Given the description of an element on the screen output the (x, y) to click on. 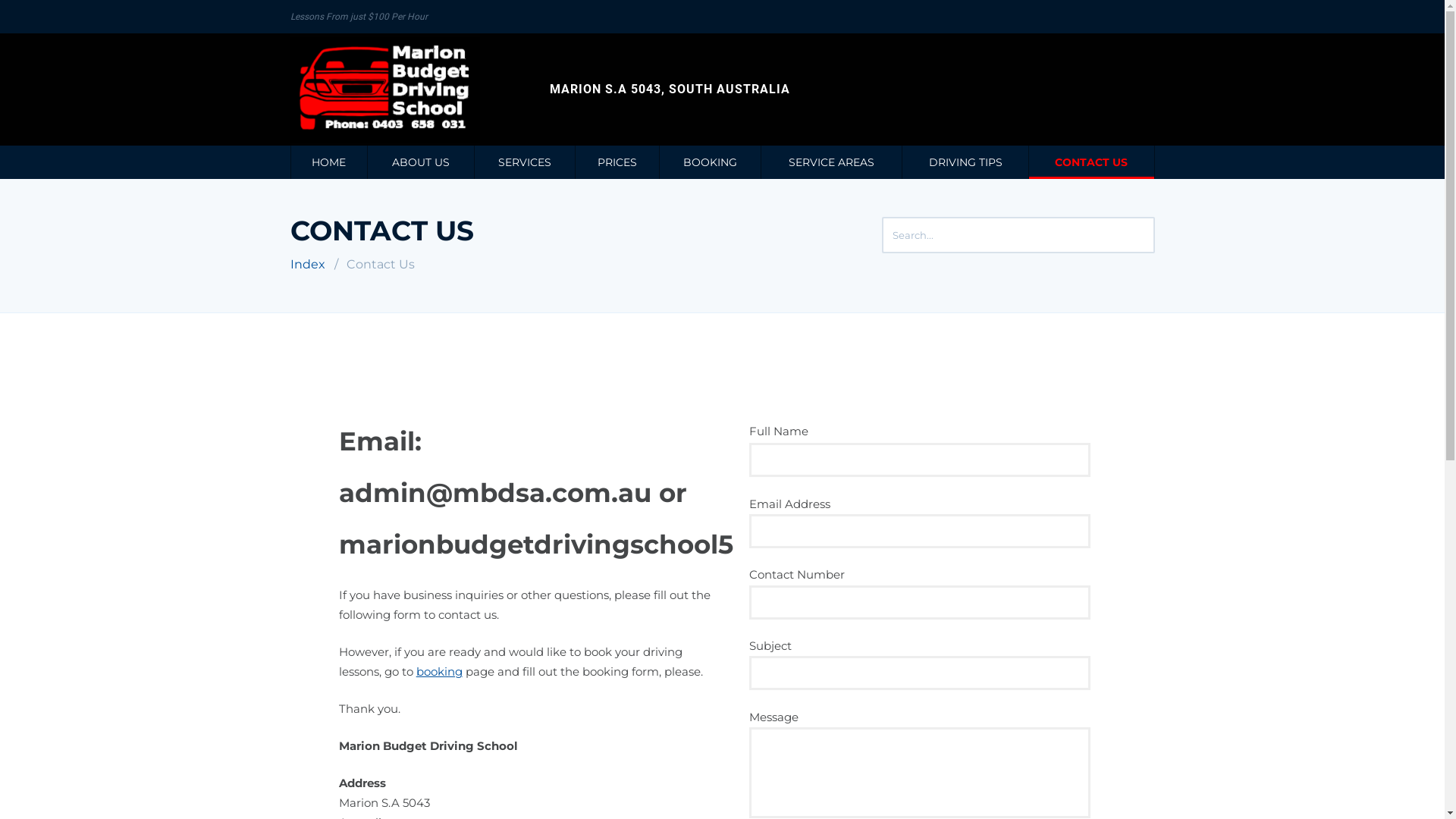
HOME Element type: text (329, 161)
booking Element type: text (439, 671)
DRIVING TIPS Element type: text (965, 161)
SERVICES Element type: text (524, 161)
CONTACT US Element type: text (1091, 161)
Index Element type: text (306, 264)
BOOKING Element type: text (709, 161)
ABOUT US Element type: text (420, 161)
SERVICE AREAS Element type: text (831, 161)
PRICES Element type: text (616, 161)
